Given the description of an element on the screen output the (x, y) to click on. 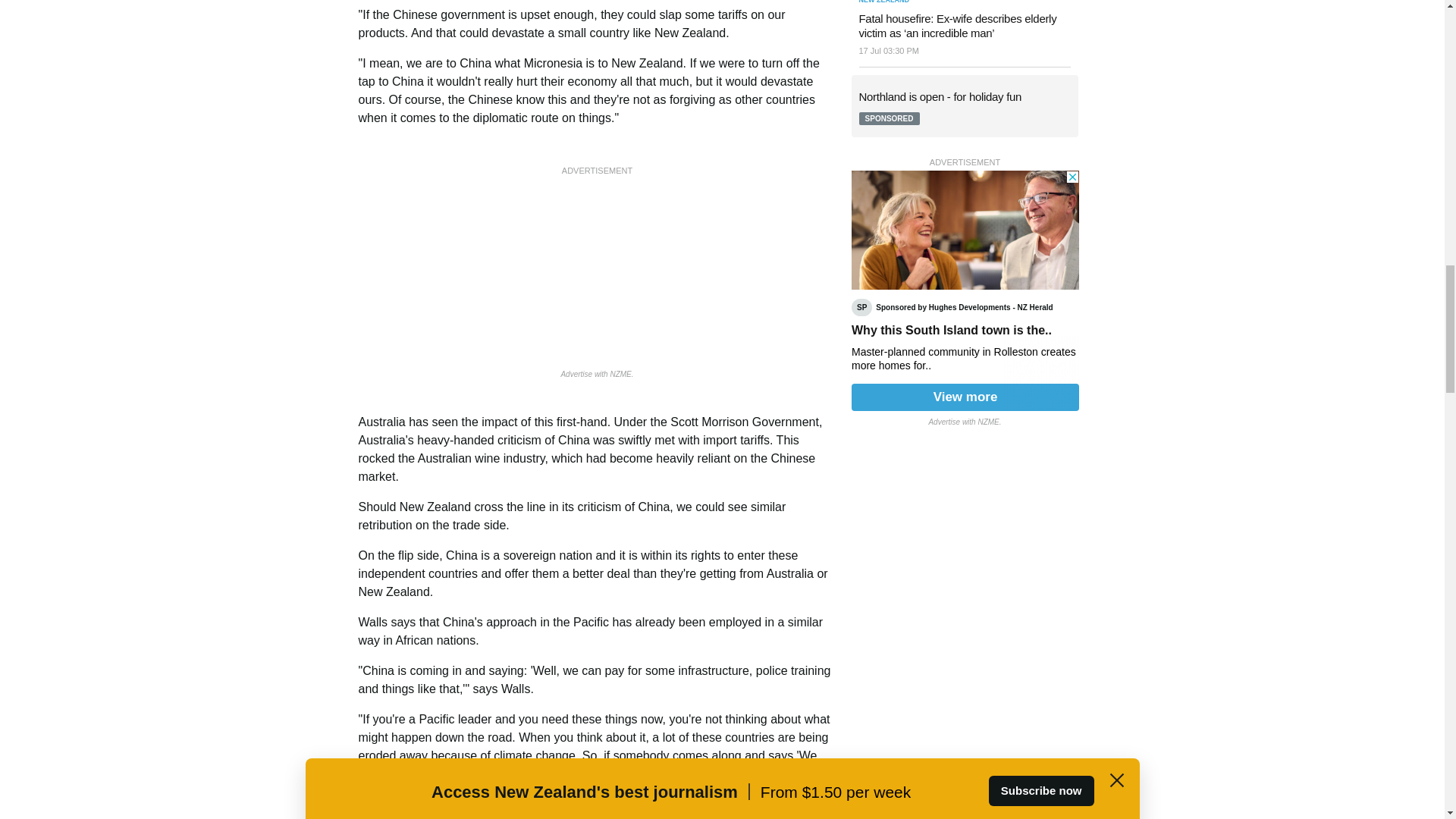
3rd party ad content (964, 290)
3rd party ad content (597, 273)
